Given the description of an element on the screen output the (x, y) to click on. 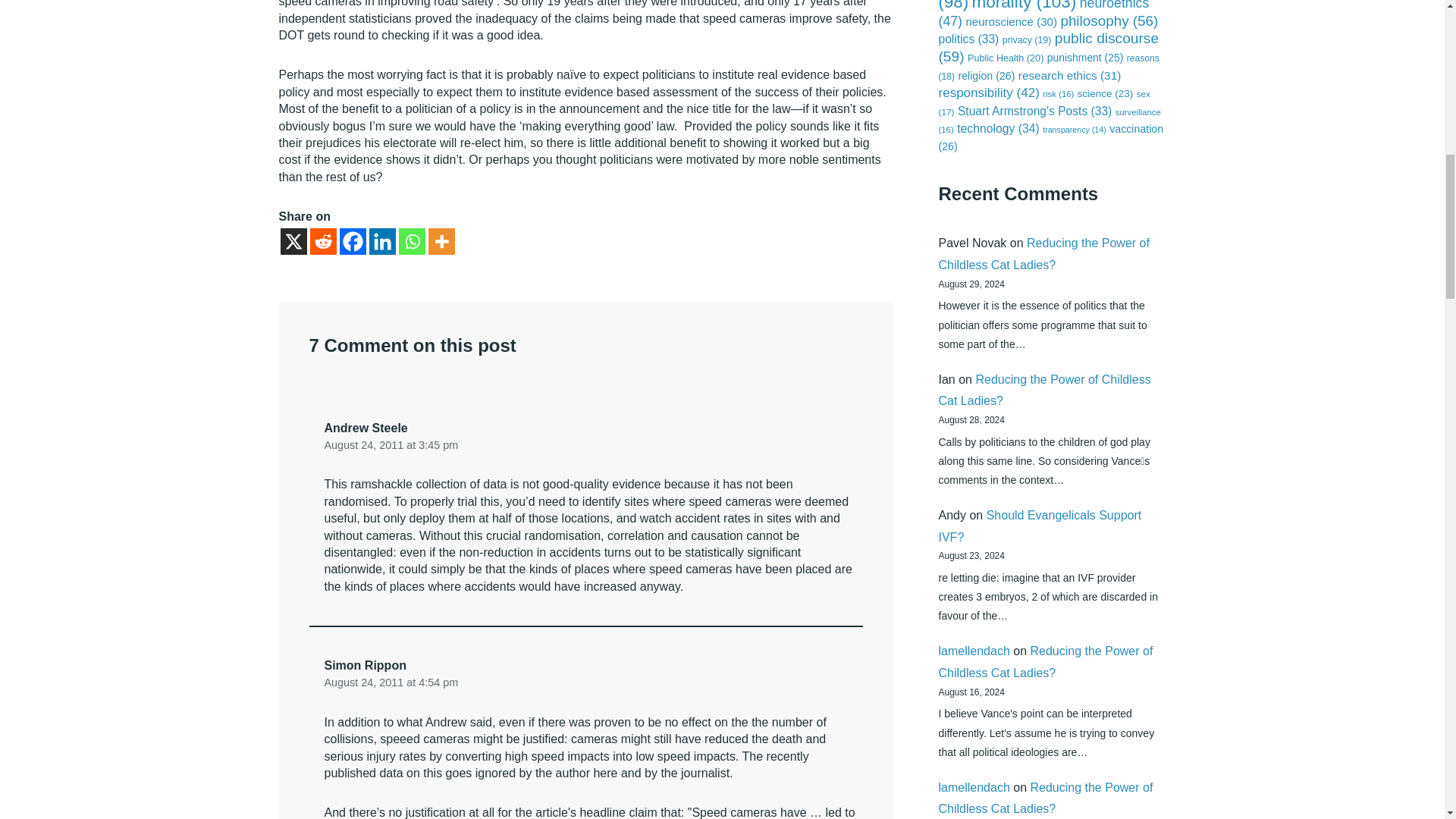
More (441, 241)
Andrew Steele (365, 427)
Linkedin (381, 241)
August 24, 2011 at 4:54 pm (391, 682)
X (294, 241)
Whatsapp (411, 241)
August 24, 2011 at 3:45 pm (391, 444)
Simon Rippon (365, 665)
Facebook (352, 241)
Reddit (322, 241)
